Given the description of an element on the screen output the (x, y) to click on. 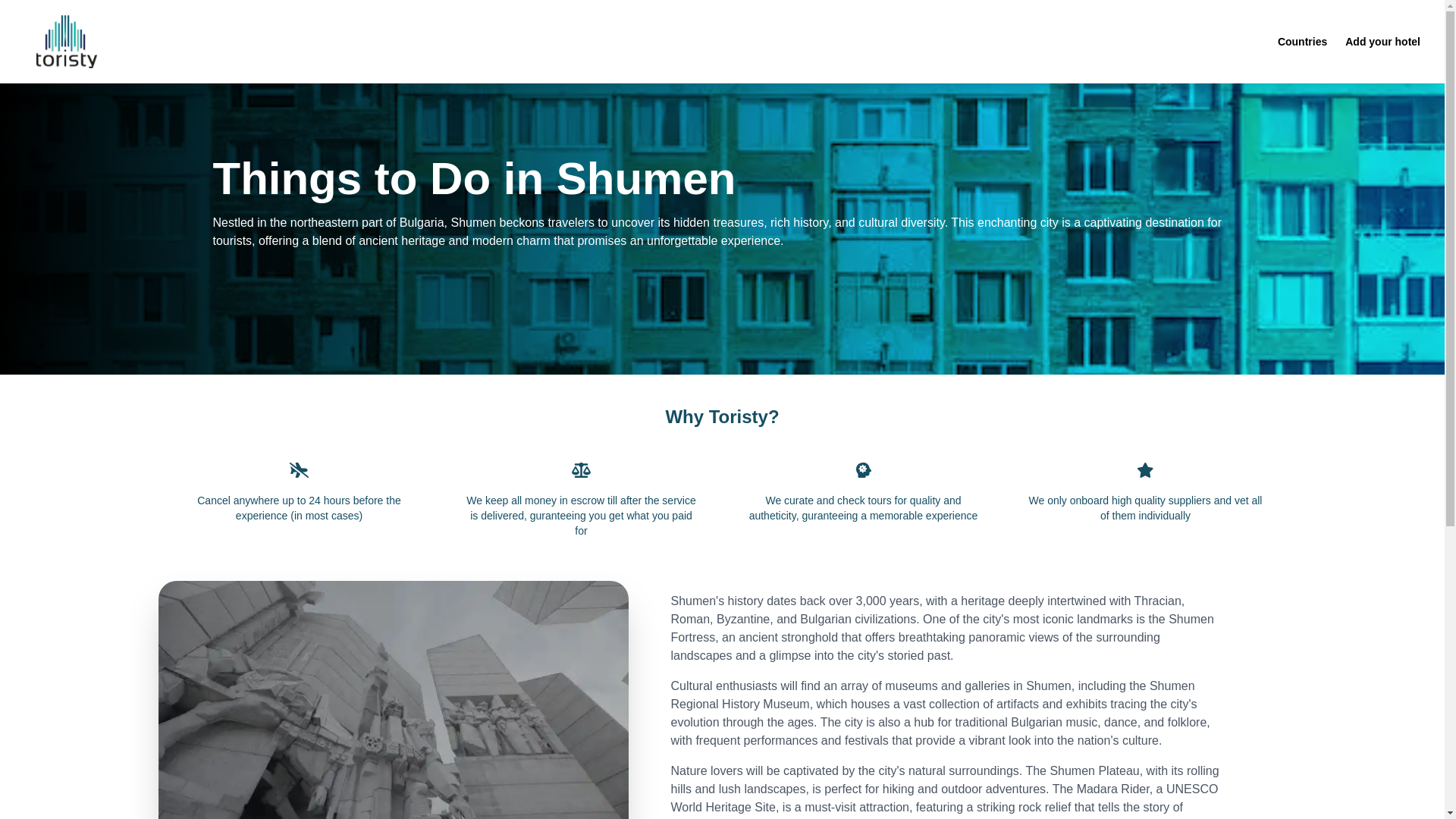
Countries (1302, 41)
Add your hotel (1383, 41)
